Given the description of an element on the screen output the (x, y) to click on. 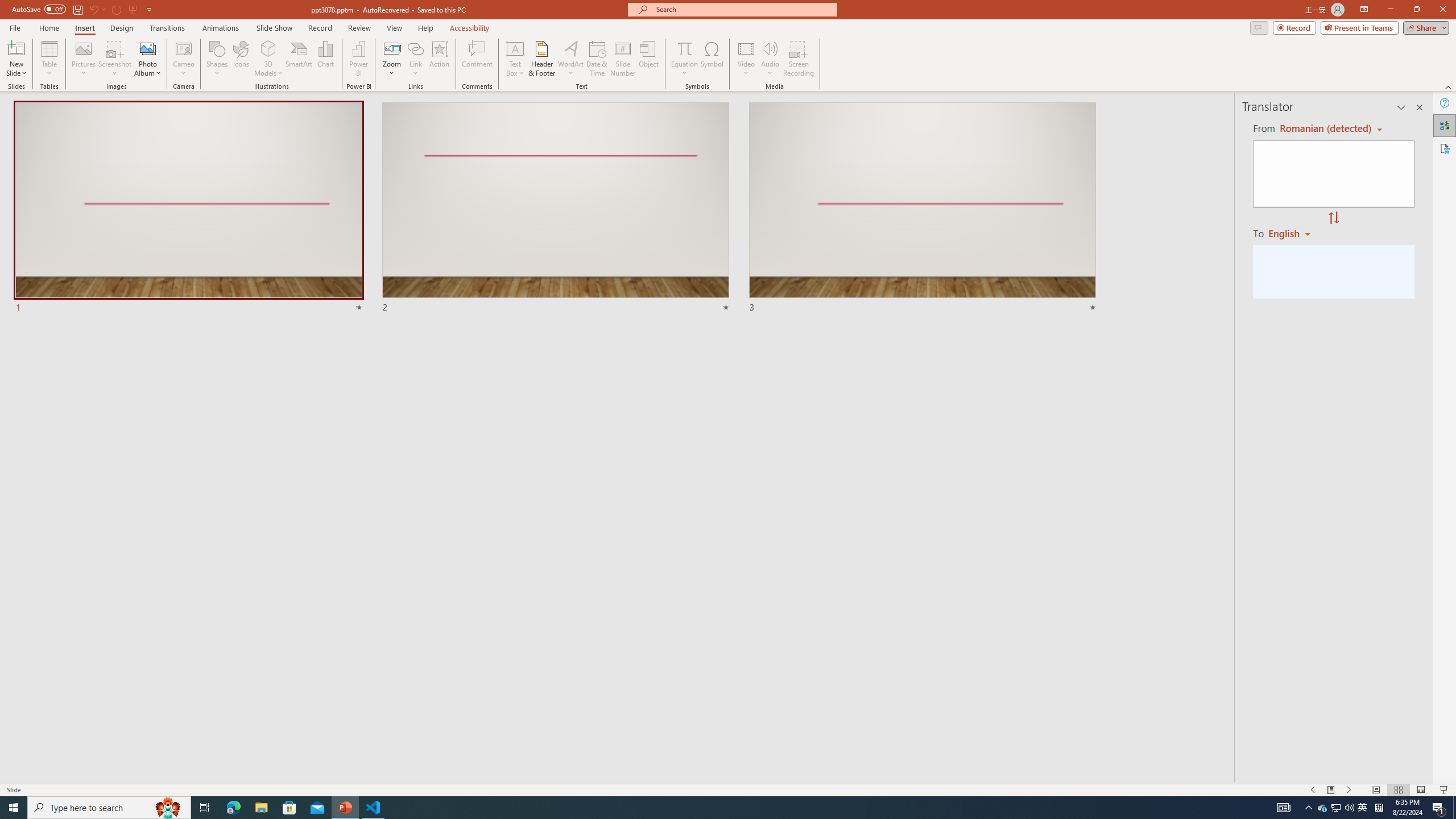
Chart... (325, 58)
New Photo Album... (147, 48)
Draw Horizontal Text Box (515, 48)
Power BI (358, 58)
Date & Time... (596, 58)
Link (415, 48)
Icons (240, 58)
Equation (683, 48)
